Given the description of an element on the screen output the (x, y) to click on. 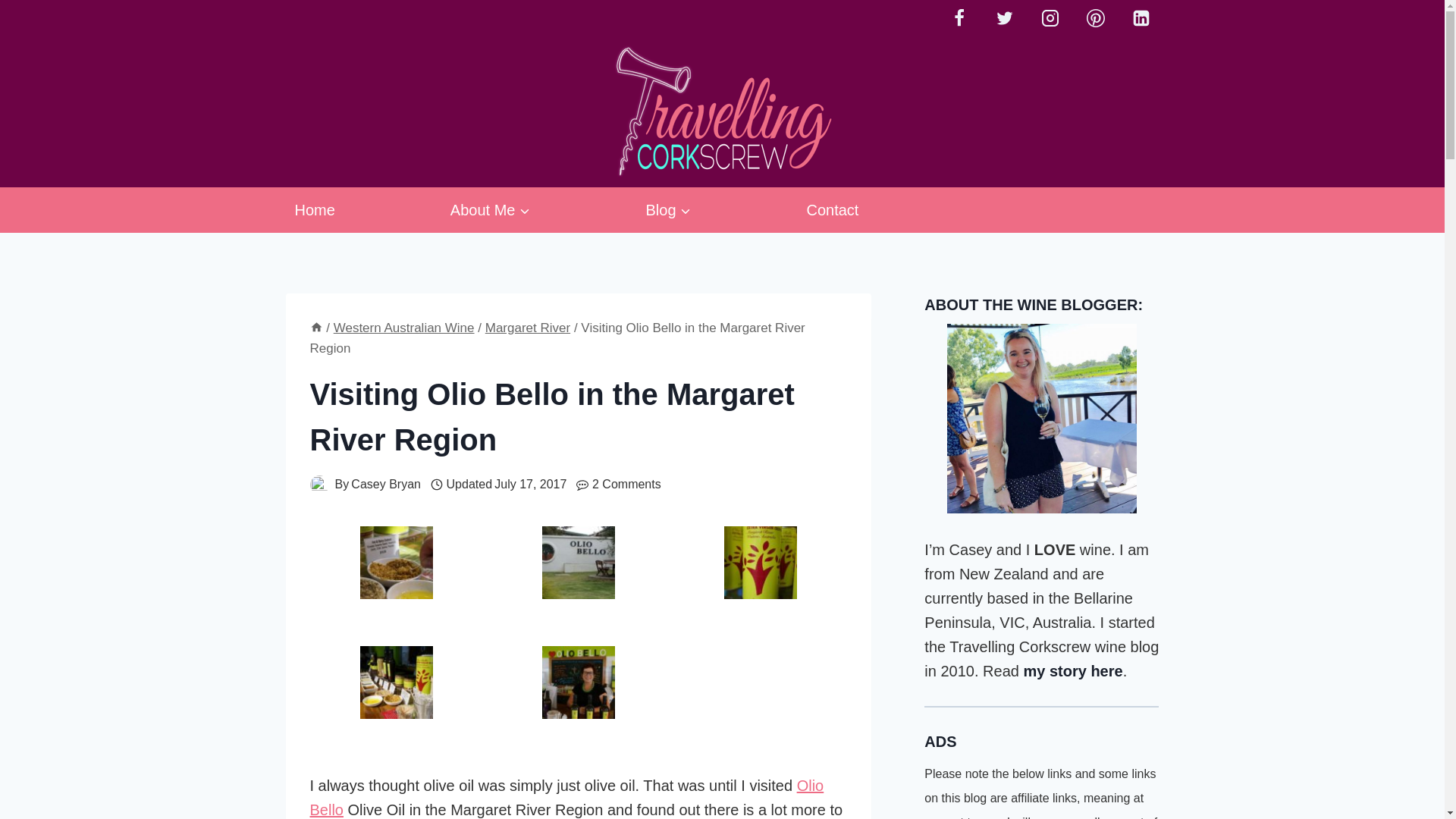
Casey Bryan (385, 483)
2 Comments (626, 484)
2 Comments (626, 484)
About Me (490, 209)
Western Australian Wine (403, 327)
Contact (832, 209)
Home (314, 209)
Blog (668, 209)
Olio Bello (566, 797)
Margaret River (527, 327)
Home (314, 327)
